Given the description of an element on the screen output the (x, y) to click on. 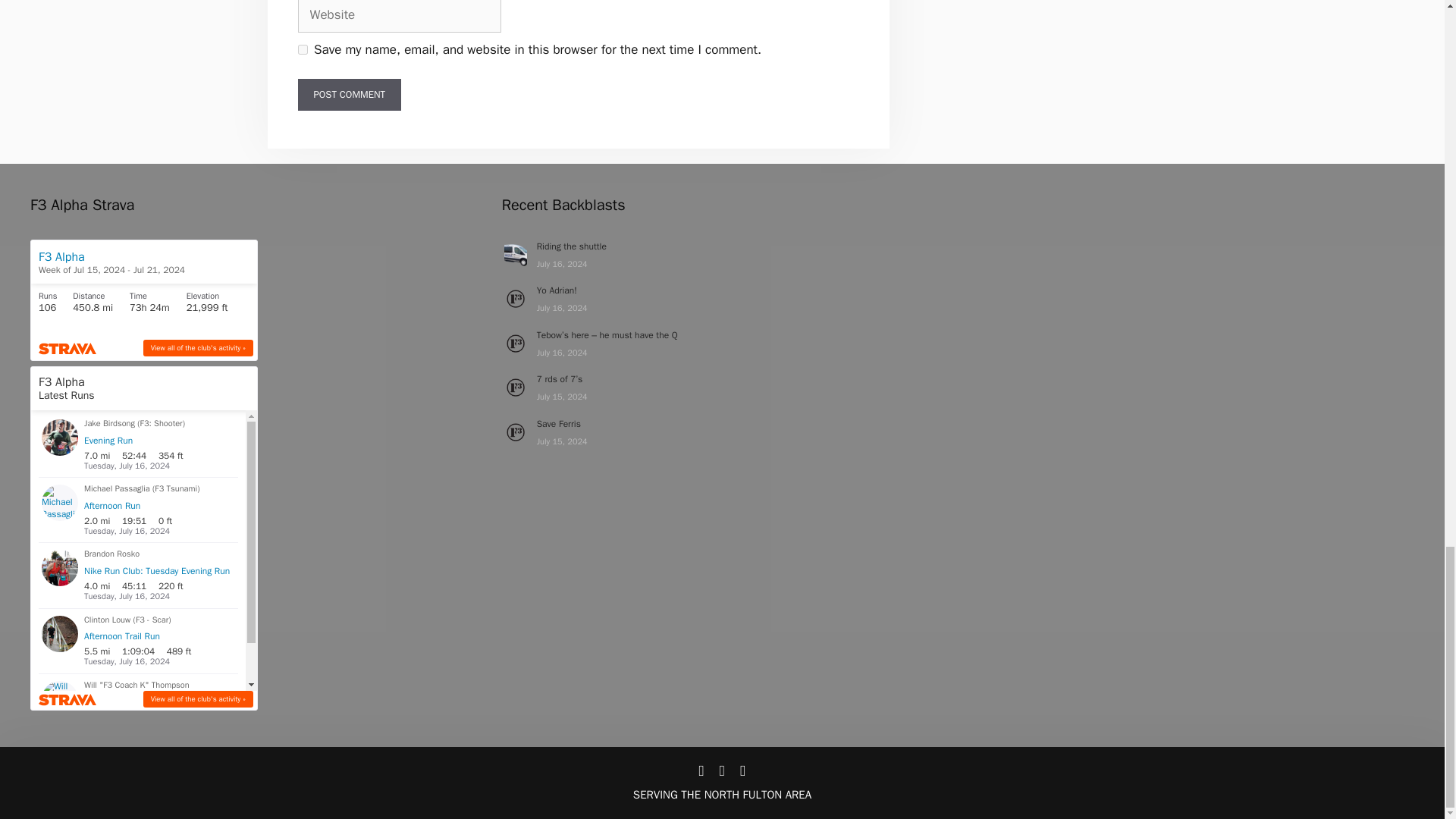
yes (302, 49)
Post Comment (349, 94)
